Given the description of an element on the screen output the (x, y) to click on. 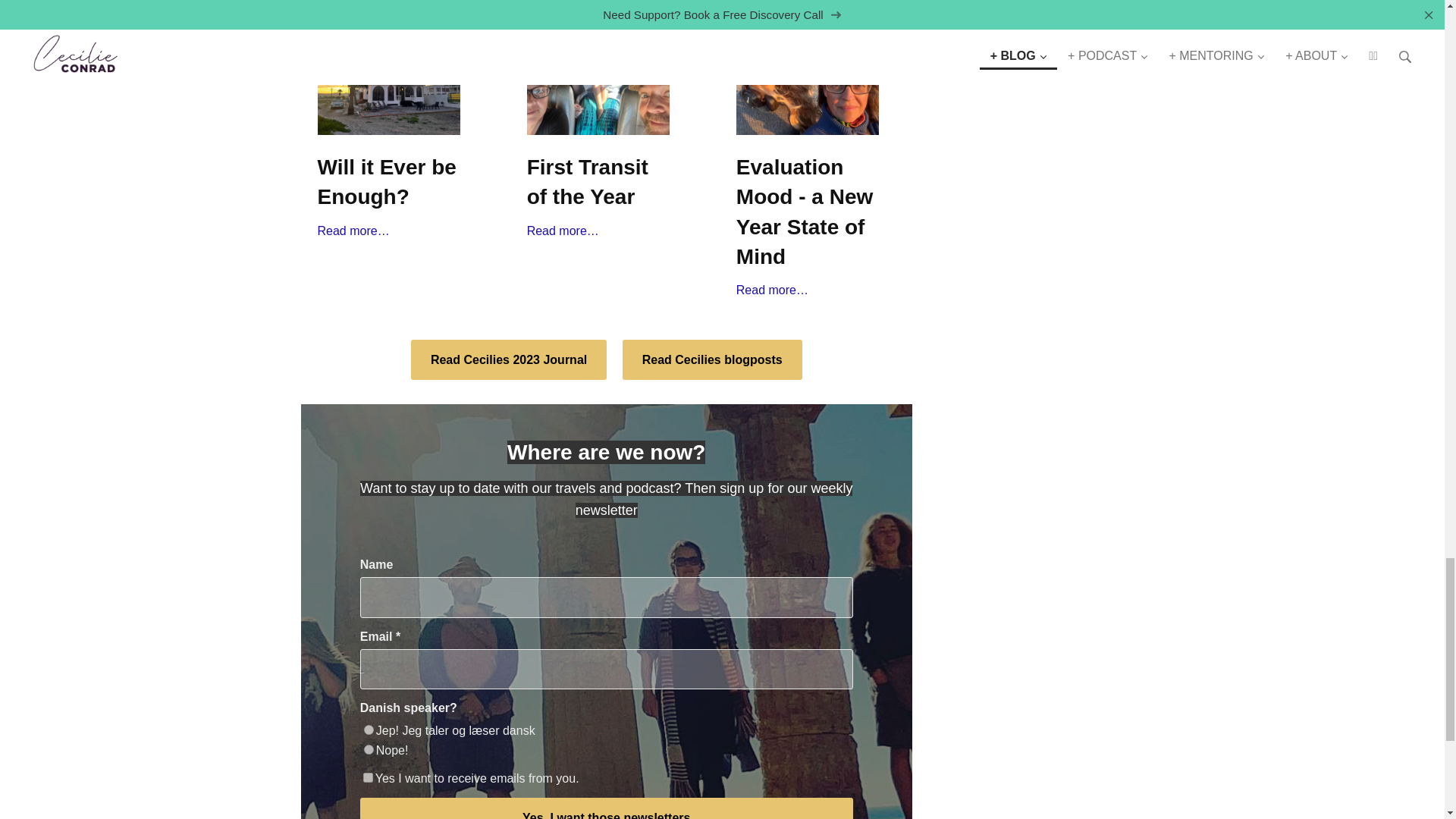
37456 (369, 749)
Yes, I want those newsletters (606, 808)
37455 (369, 729)
1 (367, 777)
